Given the description of an element on the screen output the (x, y) to click on. 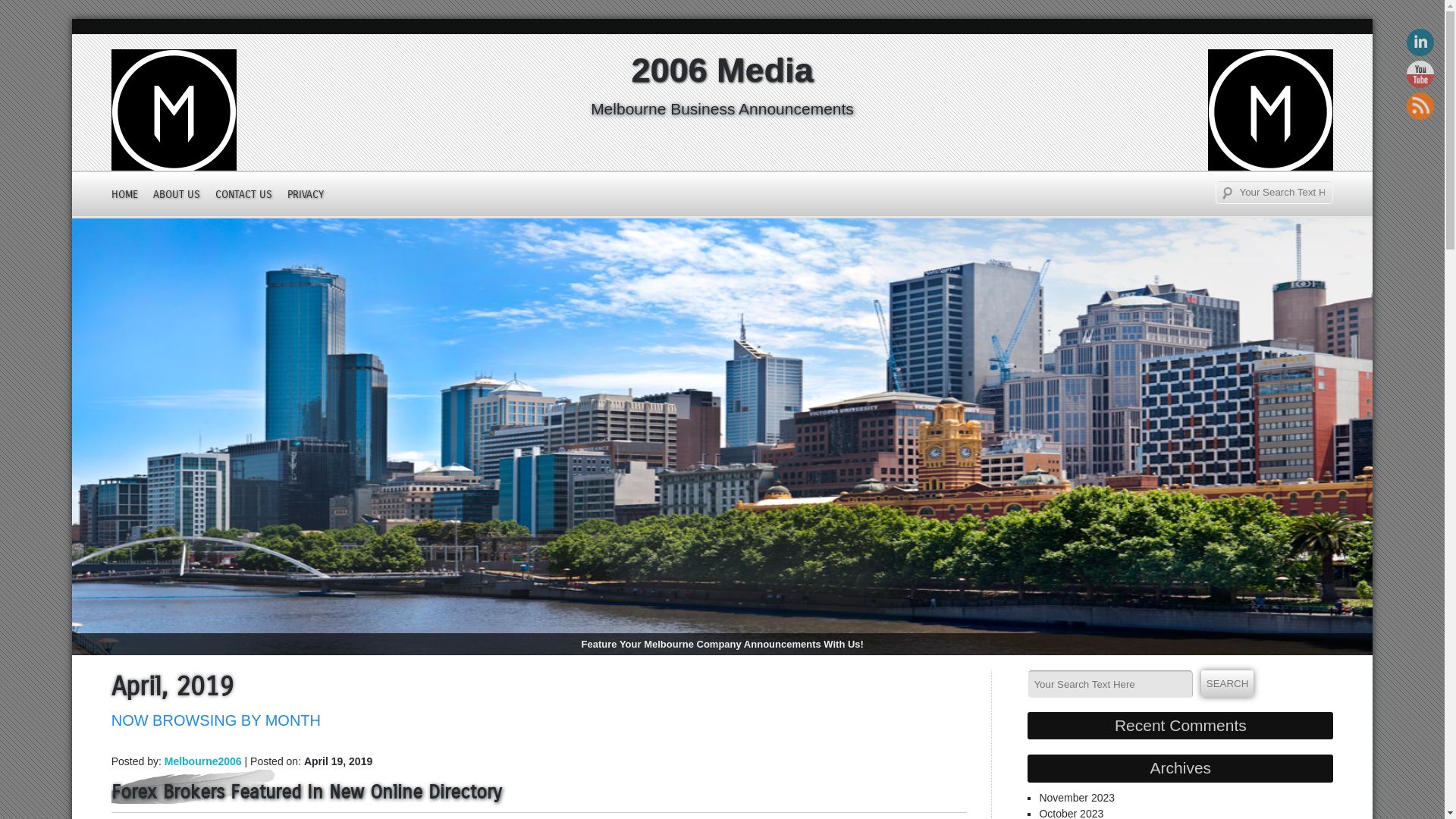
HOME Element type: text (132, 194)
November 2023 Element type: text (1076, 797)
PRIVACY Element type: text (312, 194)
Search Element type: text (1227, 683)
Melbourne2006 Element type: text (202, 761)
CONTACT US Element type: text (251, 194)
Search Element type: text (32, 13)
ABOUT US Element type: text (184, 194)
Forex Brokers Featured In New Online Directory Element type: text (538, 788)
2006 Media Element type: text (722, 70)
